Given the description of an element on the screen output the (x, y) to click on. 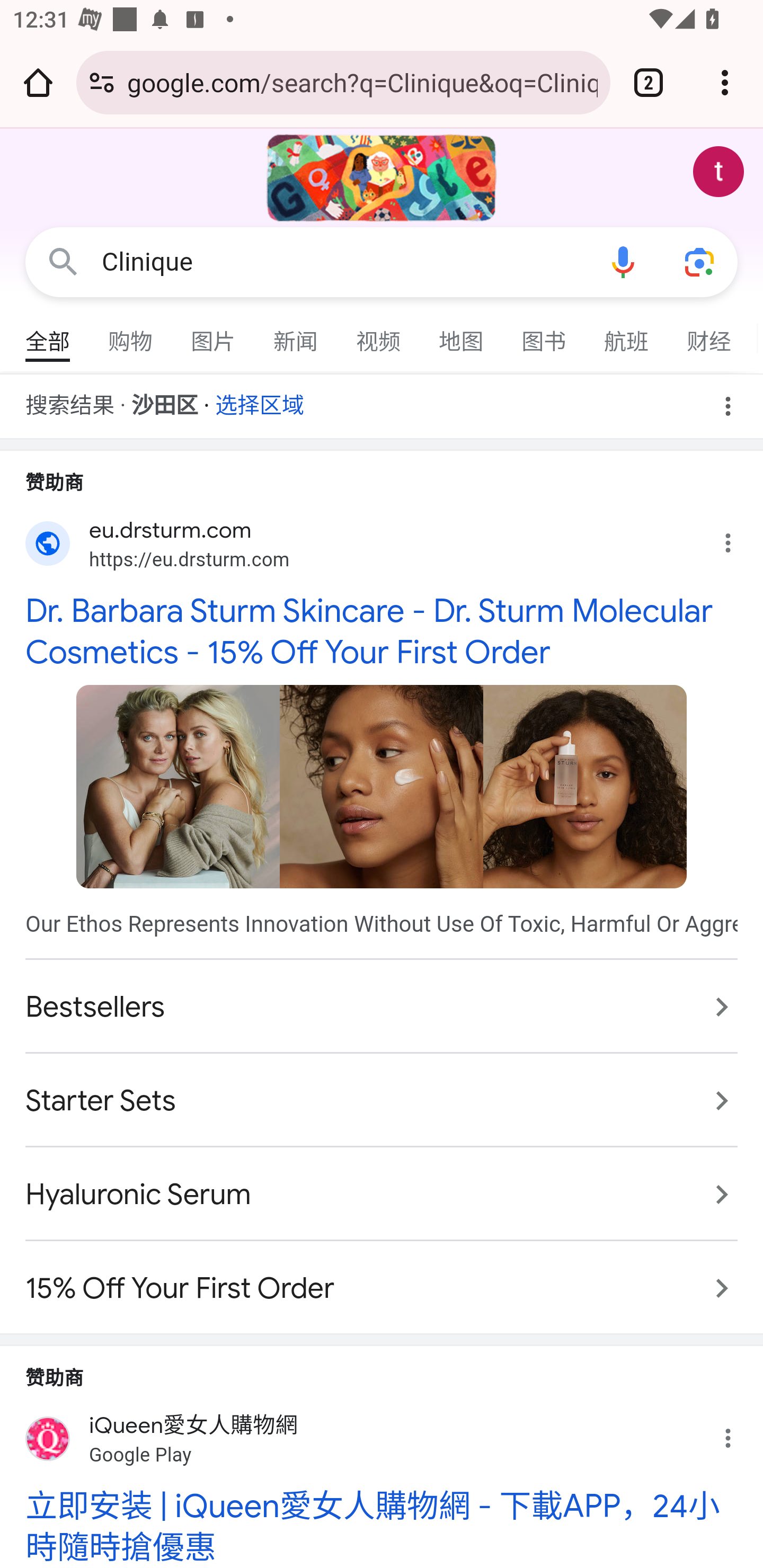
Open the home page (38, 82)
Connection is secure (101, 82)
Switch or close tabs (648, 82)
Customize and control Google Chrome (724, 82)
2024 年国际妇女节 (381, 177)
Google 账号： test appium (testappium002@gmail.com) (718, 171)
Google 搜索 (63, 262)
使用拍照功能或照片进行搜索 (699, 262)
Clinique (343, 261)
购物 (131, 333)
图片 (213, 333)
新闻 (296, 333)
视频 (379, 333)
地图 (461, 333)
图书 (544, 333)
航班 (627, 333)
财经 (709, 333)
选择区域 (259, 399)
为什么会显示该广告？ (738, 538)
图片来自 drsturm.com (178, 786)
图片来自 drsturm.com (381, 786)
图片来自 drsturm.com (584, 786)
Bestsellers (381, 1006)
Starter Sets (381, 1100)
Hyaluronic Serum (381, 1194)
15% Off Your First Order (381, 1278)
为什么会显示该广告？ (738, 1433)
立即安装 | iQueen愛女人購物網 - 下載APP，24小時隨時搶優惠 (381, 1526)
